Given the description of an element on the screen output the (x, y) to click on. 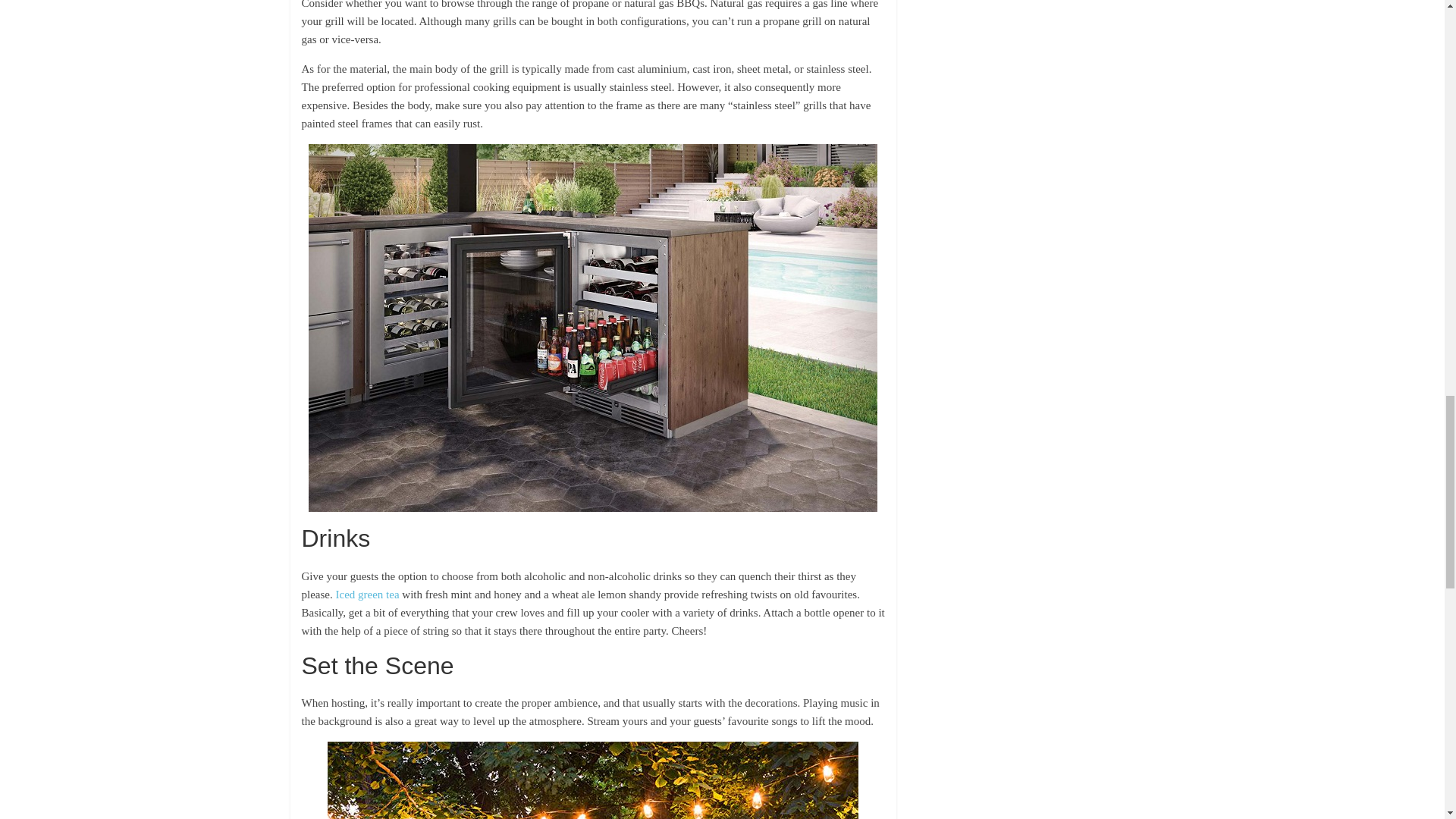
Iced green tea (366, 594)
